Given the description of an element on the screen output the (x, y) to click on. 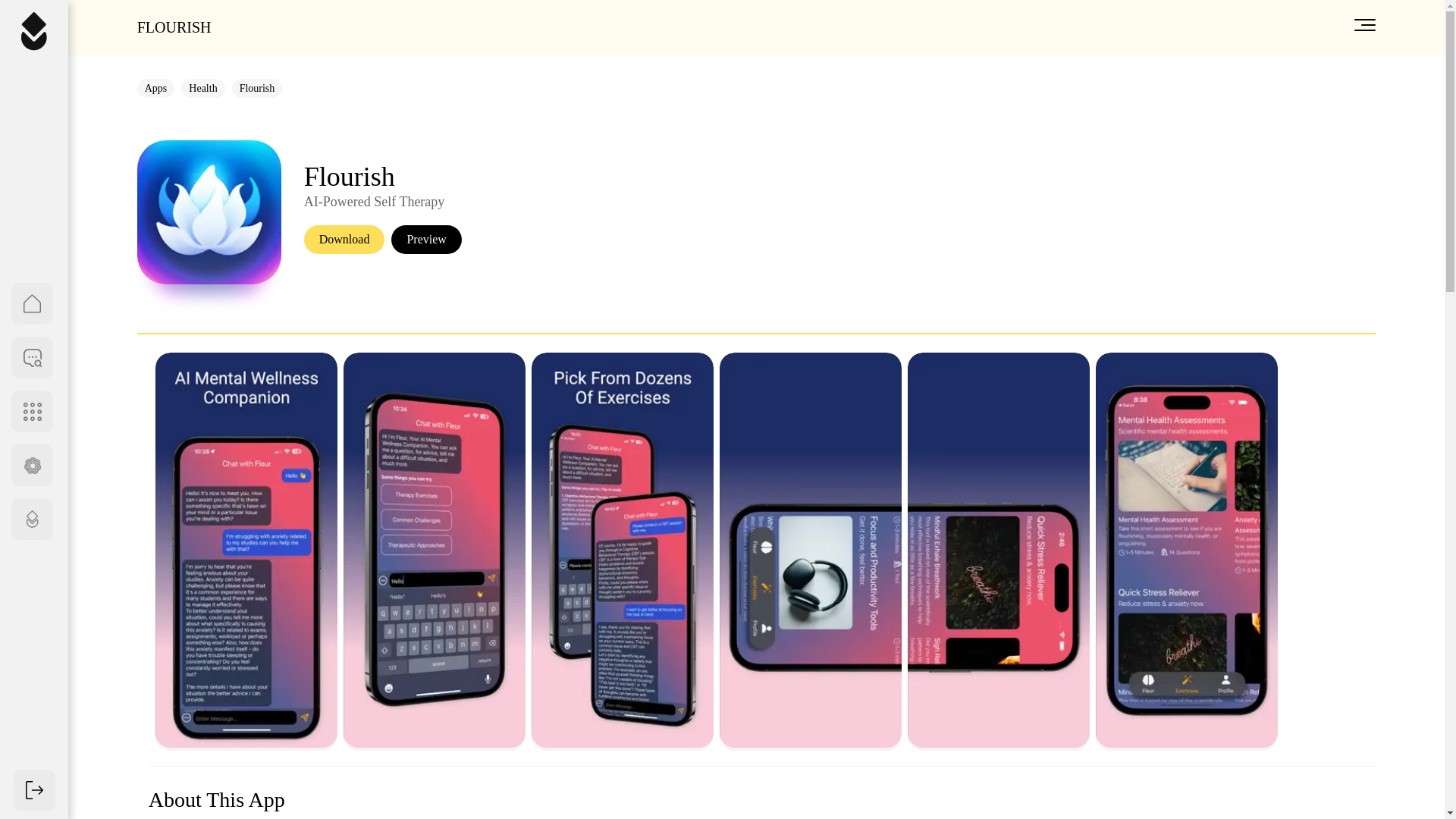
Download (344, 239)
Health (202, 87)
Apps (155, 87)
Preview (426, 239)
